Given the description of an element on the screen output the (x, y) to click on. 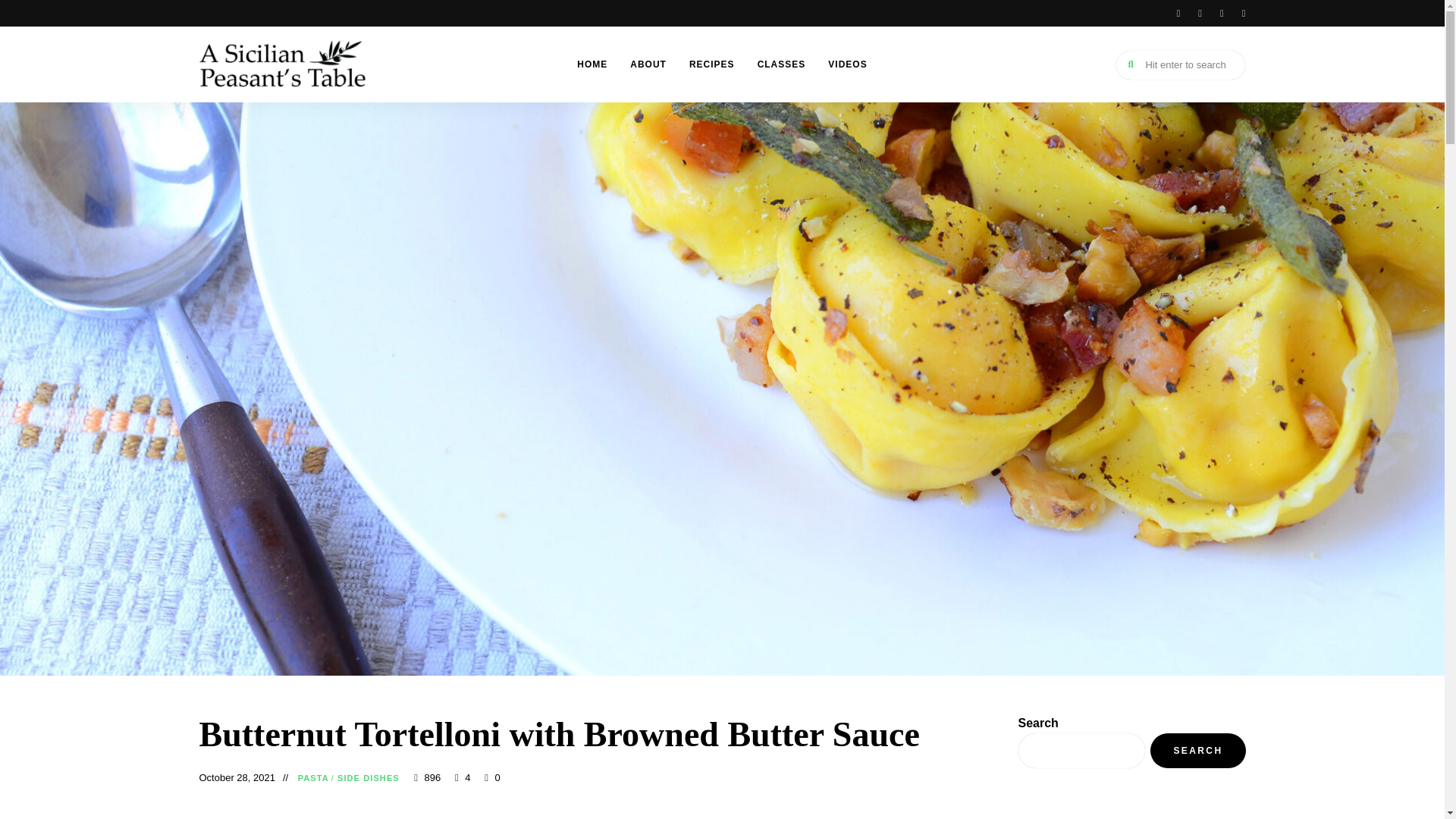
0 (492, 777)
twitter (1200, 12)
PASTA (313, 778)
RECIPES (711, 64)
instagram (1222, 12)
youtube (1244, 12)
facebook (1178, 12)
CLASSES (780, 64)
SIDE DISHES (367, 778)
